Given the description of an element on the screen output the (x, y) to click on. 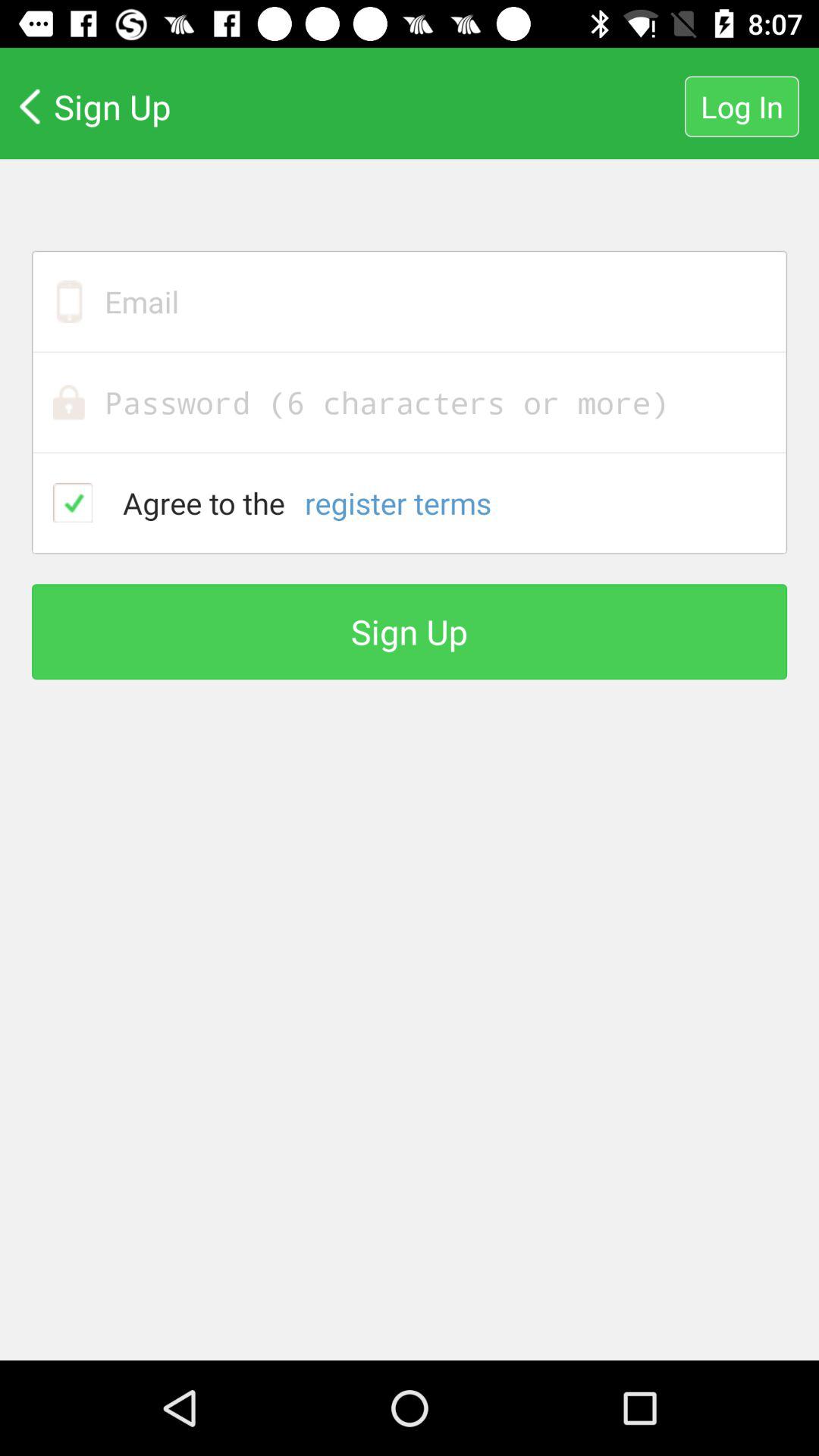
enter an email address (409, 301)
